Given the description of an element on the screen output the (x, y) to click on. 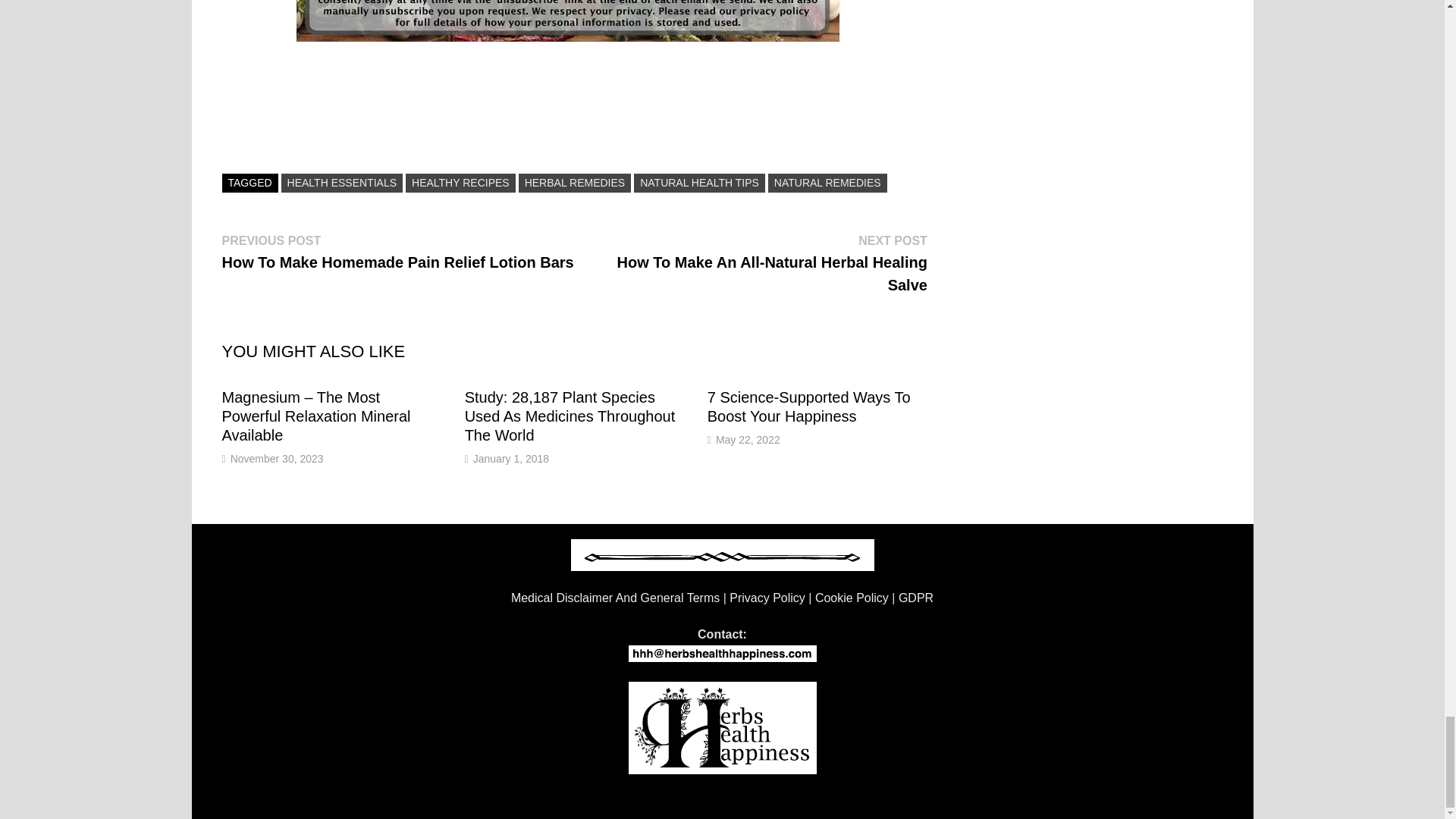
NATURAL HEALTH TIPS (699, 182)
7 Science-Supported Ways To Boost Your Happiness (809, 407)
HEALTHY RECIPES (460, 182)
HEALTH ESSENTIALS (342, 182)
NATURAL REMEDIES (827, 182)
HERBAL REMEDIES (574, 182)
